Given the description of an element on the screen output the (x, y) to click on. 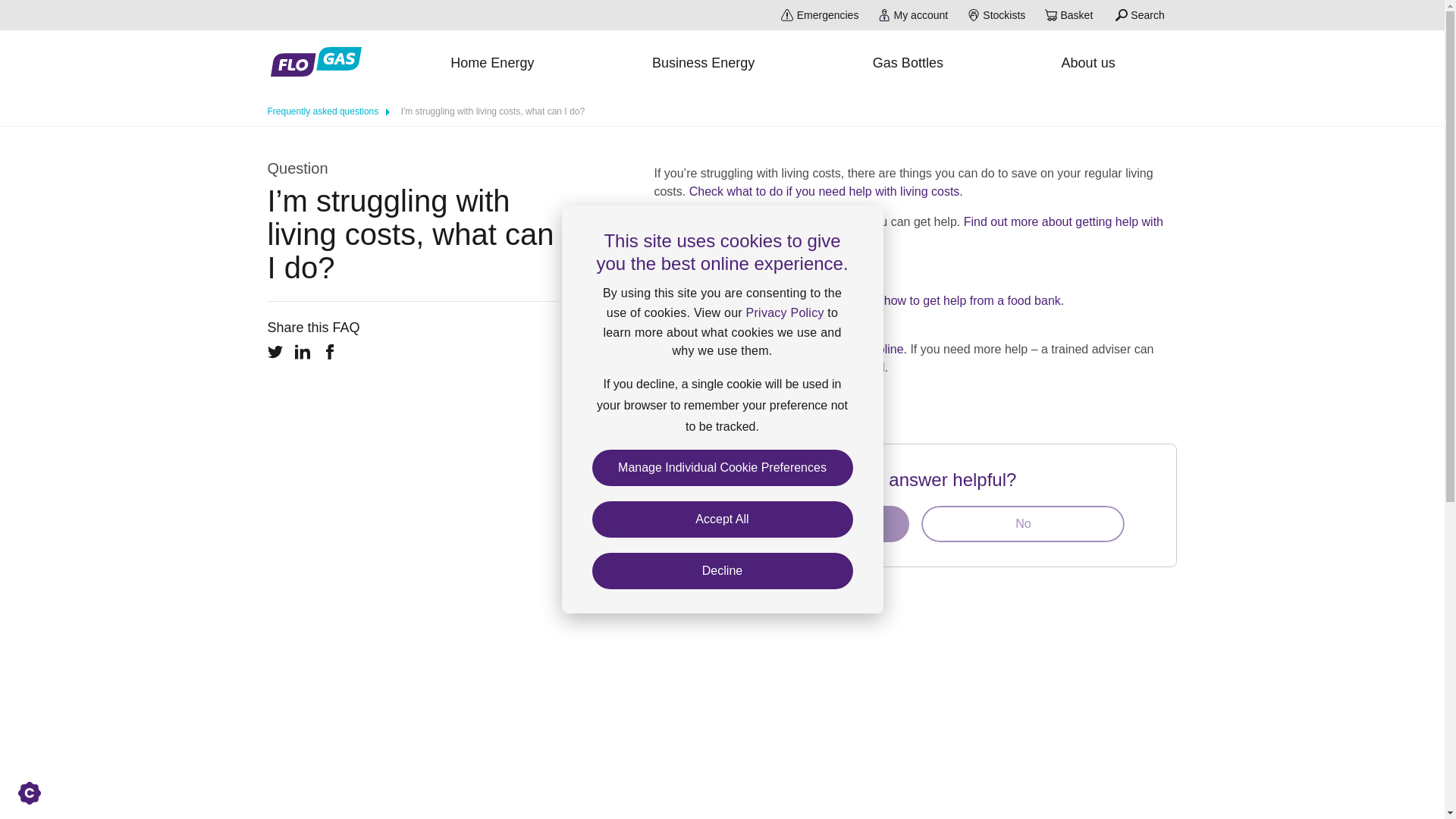
View your shopping basket (1070, 15)
My account (912, 15)
Basket (1070, 15)
Stockists (996, 15)
Emergencies (819, 15)
Search (1139, 15)
Home Energy (491, 63)
